Given the description of an element on the screen output the (x, y) to click on. 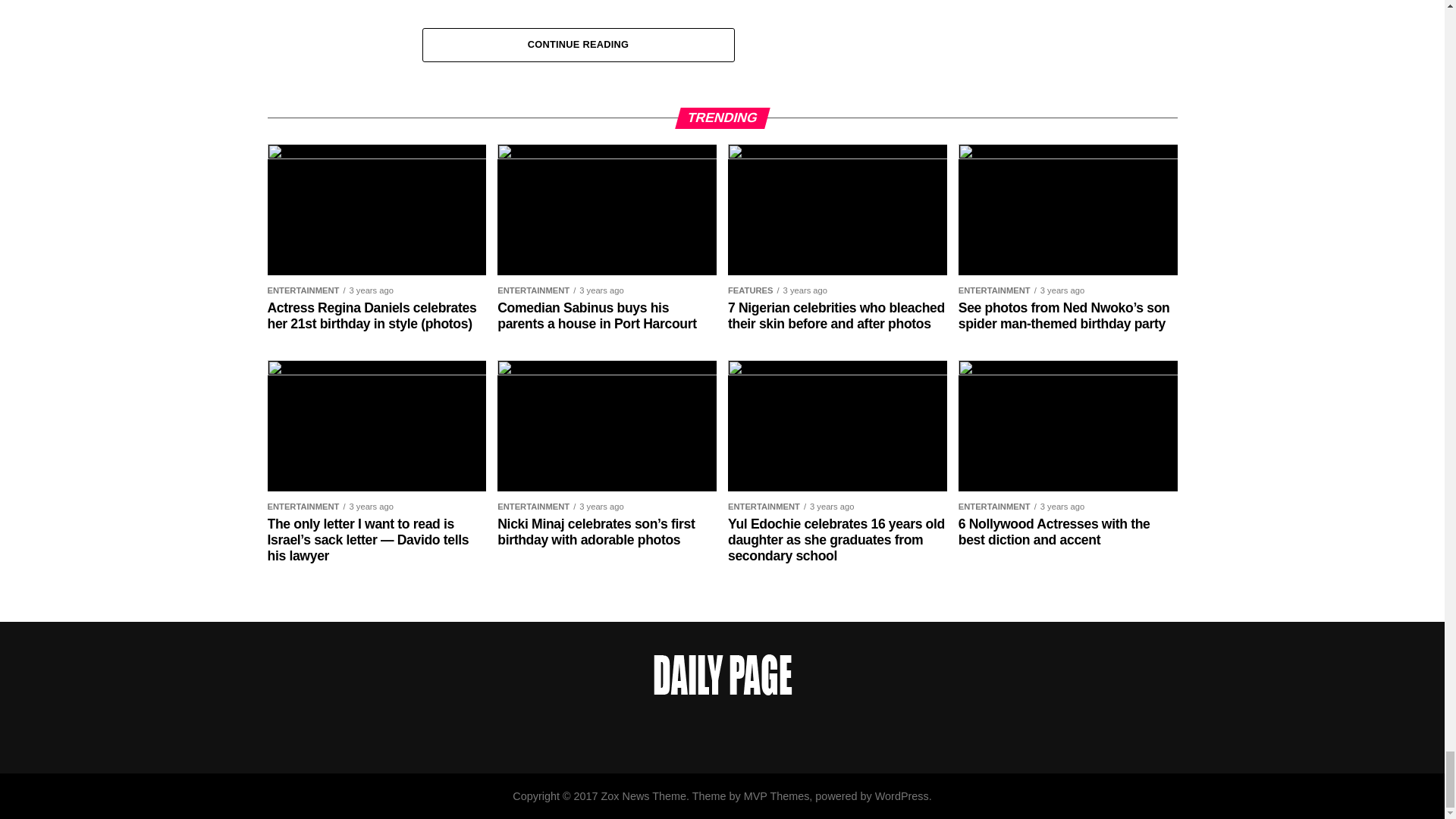
CONTINUE READING (577, 42)
